Given the description of an element on the screen output the (x, y) to click on. 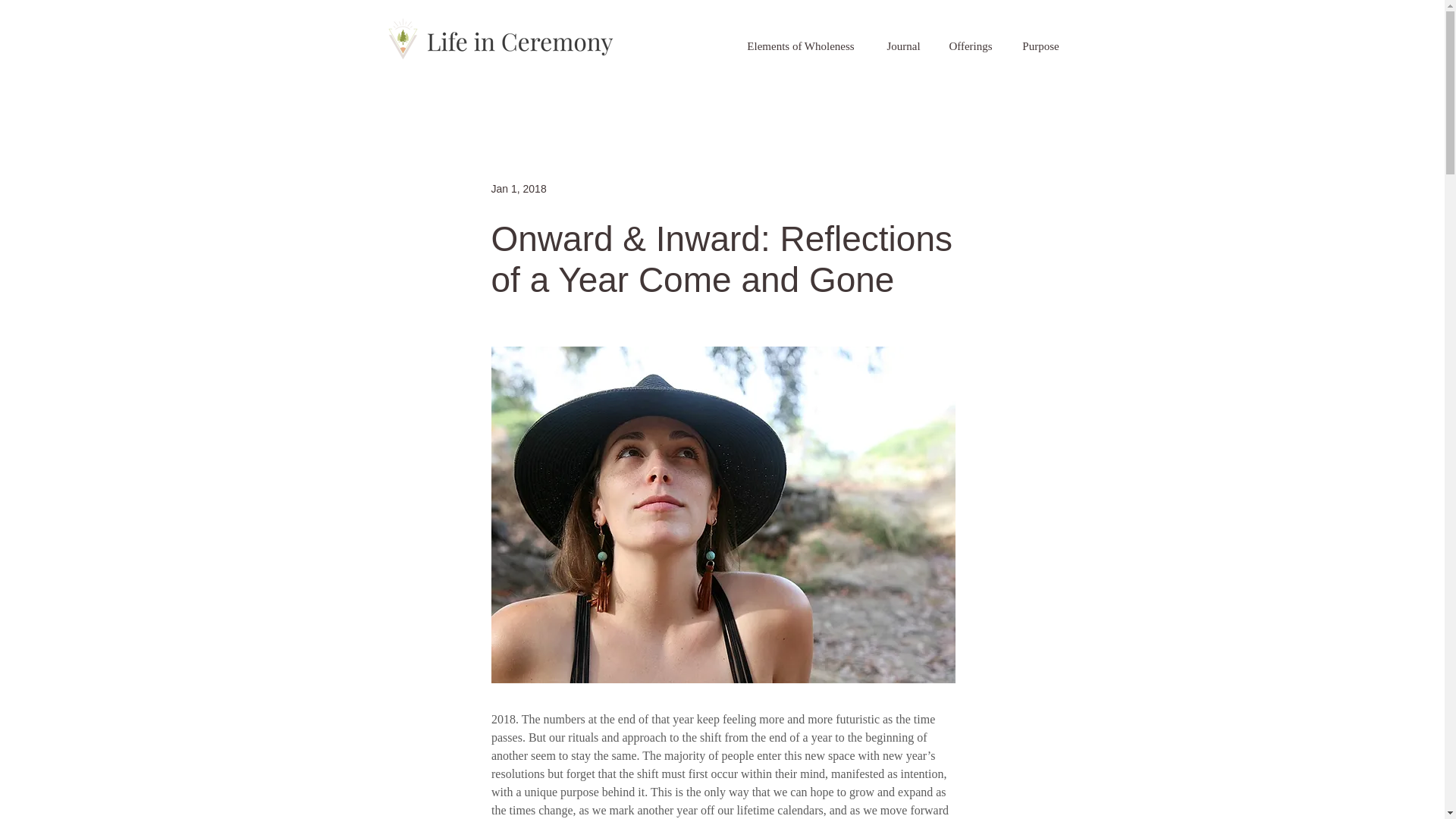
Journal (902, 46)
Purpose (1040, 46)
Elements of Wholeness (800, 46)
Jan 1, 2018 (519, 187)
